Given the description of an element on the screen output the (x, y) to click on. 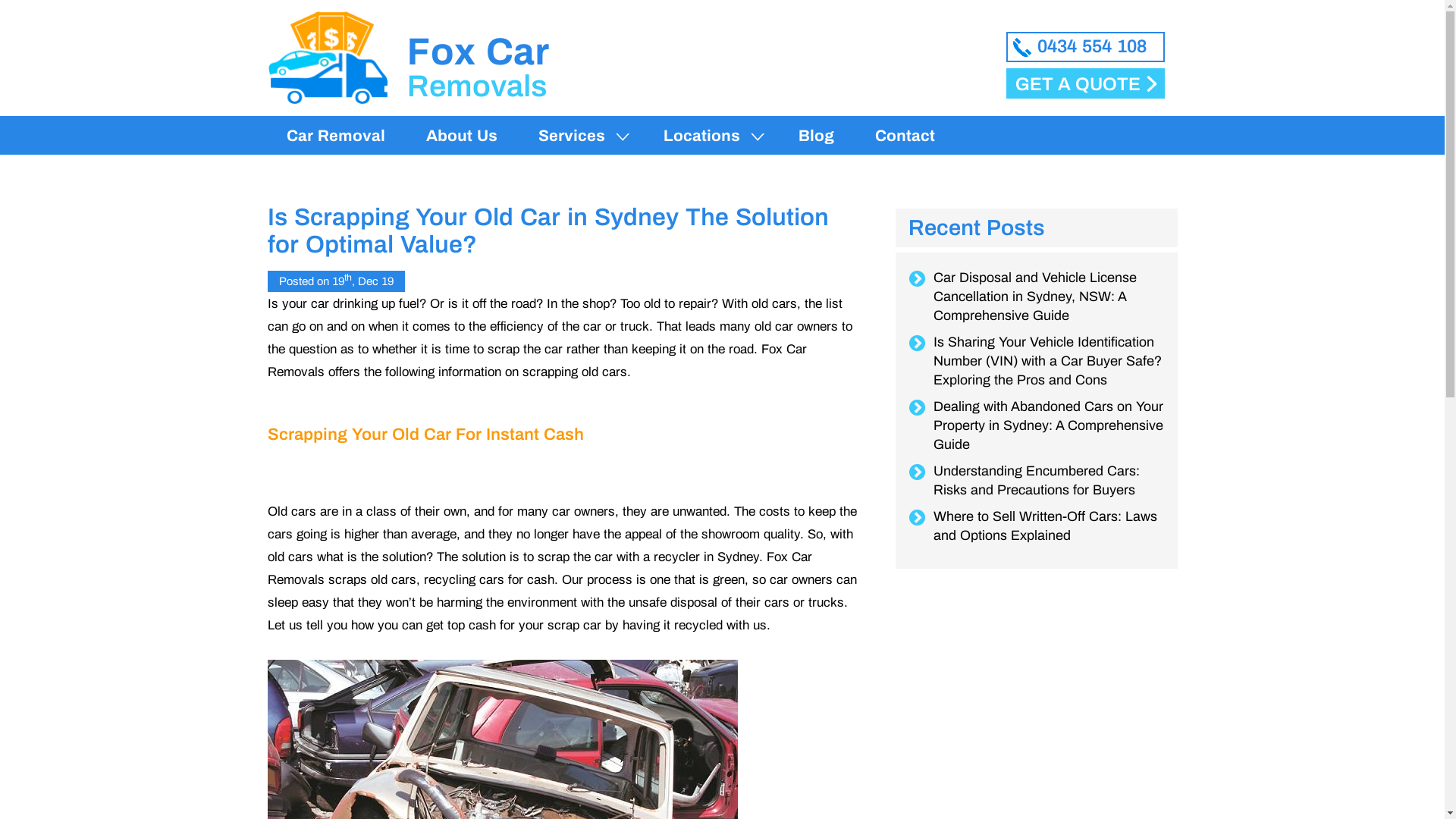
Contact Element type: text (905, 135)
Services Element type: text (580, 135)
Car Removal Element type: text (335, 135)
0434 554 108 Element type: text (1084, 46)
Blog Element type: text (815, 135)
Where to Sell Written-Off Cars: Laws and Options Explained Element type: text (1048, 526)
Locations Element type: text (709, 135)
About Us Element type: text (461, 135)
Fox Car
Removals Element type: text (407, 21)
GET A QUOTE Element type: text (1084, 83)
Fox Car Removals Element type: hover (327, 57)
